Given the description of an element on the screen output the (x, y) to click on. 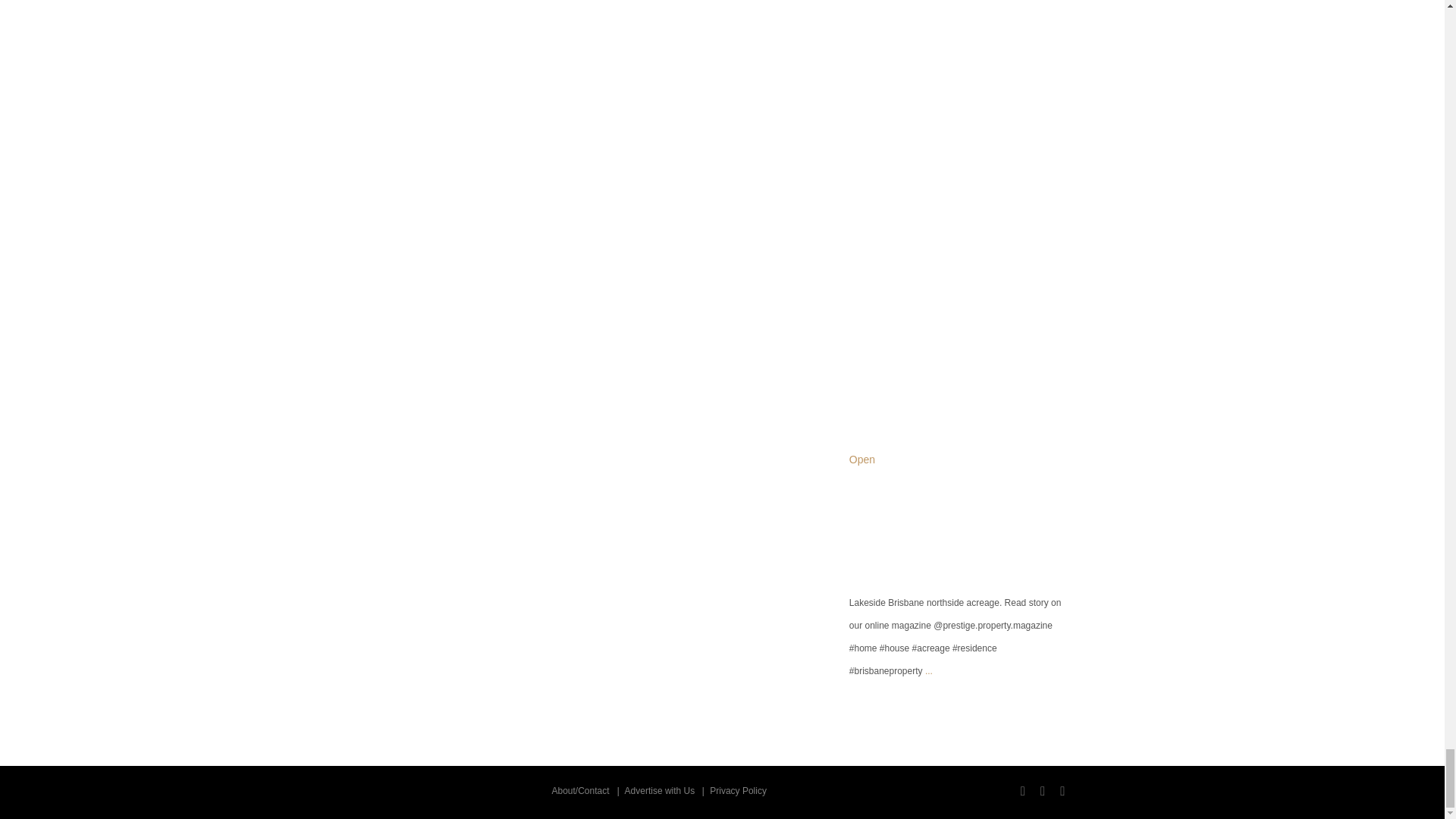
Instagram (960, 89)
